Given the description of an element on the screen output the (x, y) to click on. 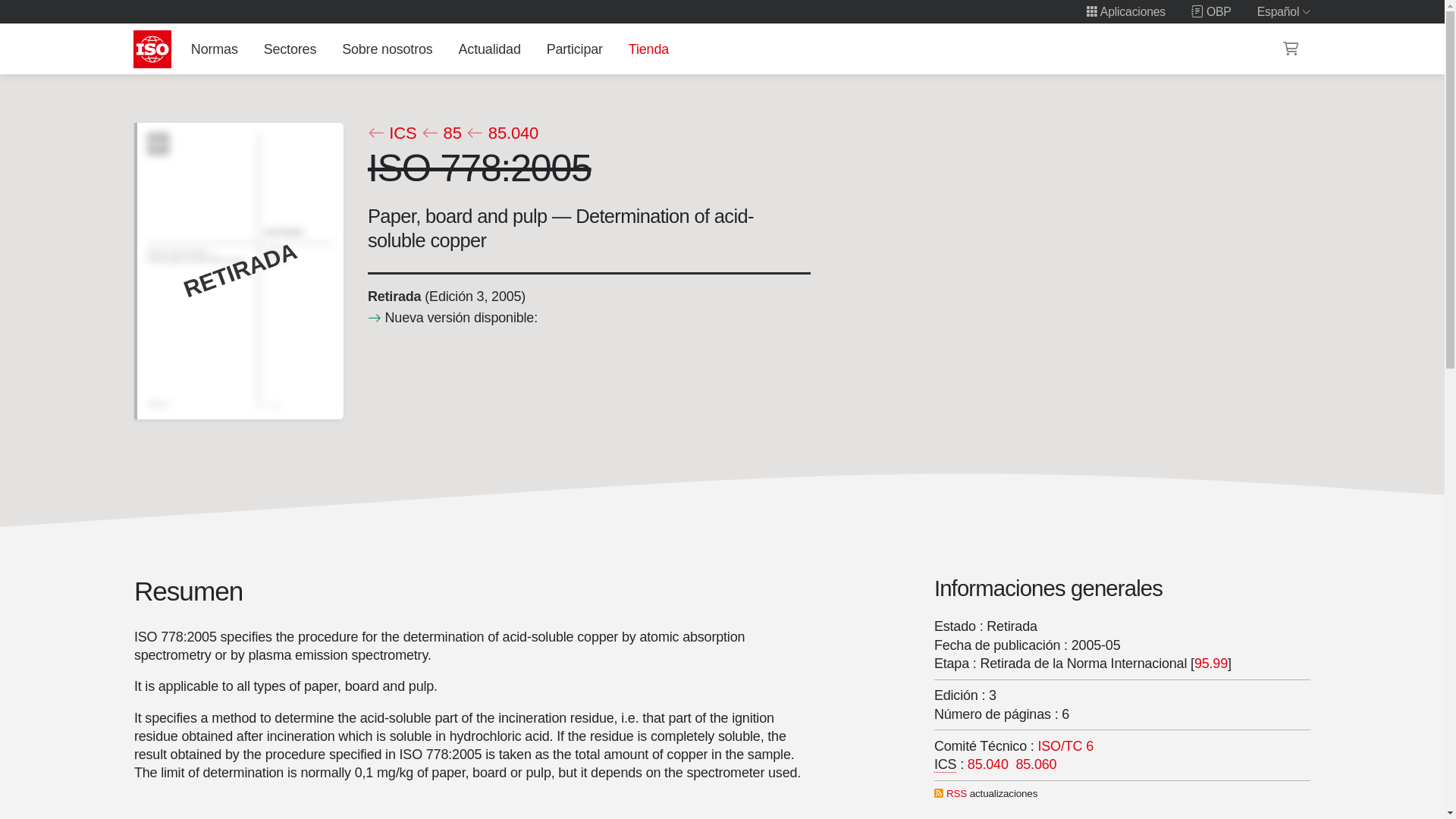
Pulps (988, 764)
Ciclo de vida (393, 296)
Participar (574, 48)
Tienda (648, 48)
Paper, board and pulps (1066, 745)
95.99 (1210, 663)
85 (441, 133)
85.040 (988, 764)
85.060 (1036, 764)
Carro de la compra (1290, 49)
Actualidad (489, 48)
ICS (391, 133)
RSS (956, 793)
